Given the description of an element on the screen output the (x, y) to click on. 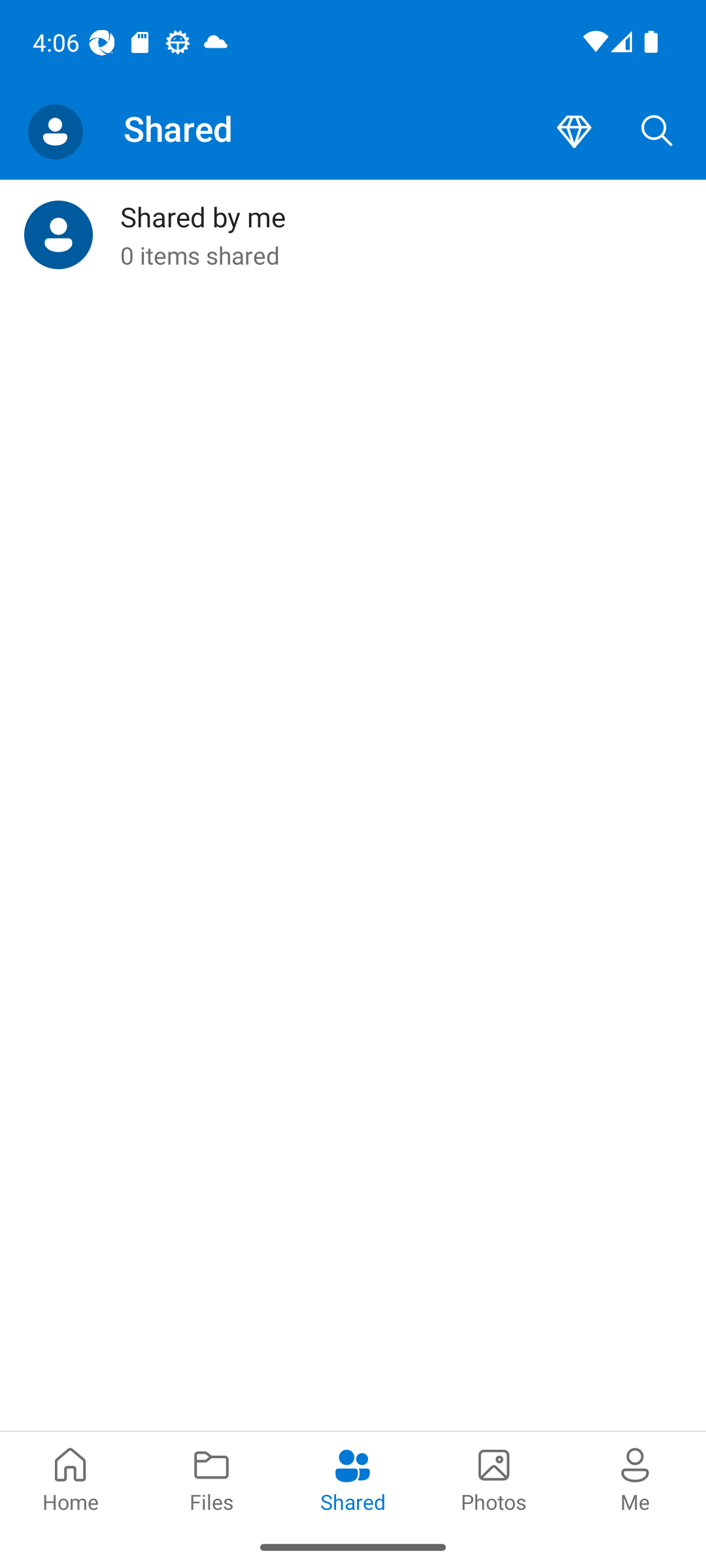
Account switcher (55, 131)
Premium button (574, 131)
Search button (656, 131)
0 Shared by me 0 items shared (353, 235)
Home pivot Home (70, 1478)
Files pivot Files (211, 1478)
Photos pivot Photos (493, 1478)
Me pivot Me (635, 1478)
